Given the description of an element on the screen output the (x, y) to click on. 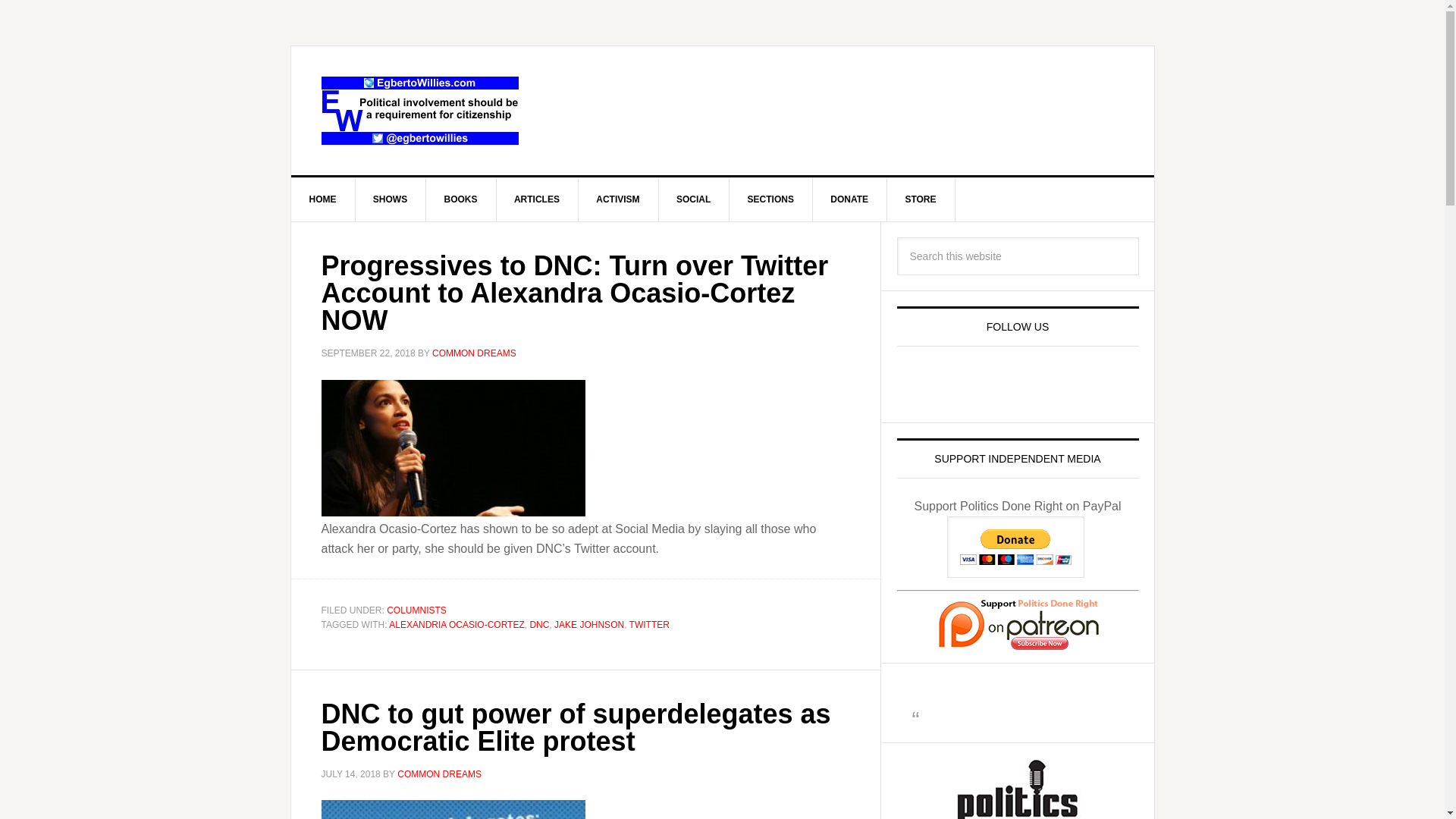
ACTIVISM (618, 199)
SOCIAL (693, 199)
BOOKS (461, 199)
SHOWS (390, 199)
EGBERTOWILLIES.COM (419, 110)
ARTICLES (537, 199)
HOME (323, 199)
PayPal - The safer, easier way to pay online! (1015, 547)
